Given the description of an element on the screen output the (x, y) to click on. 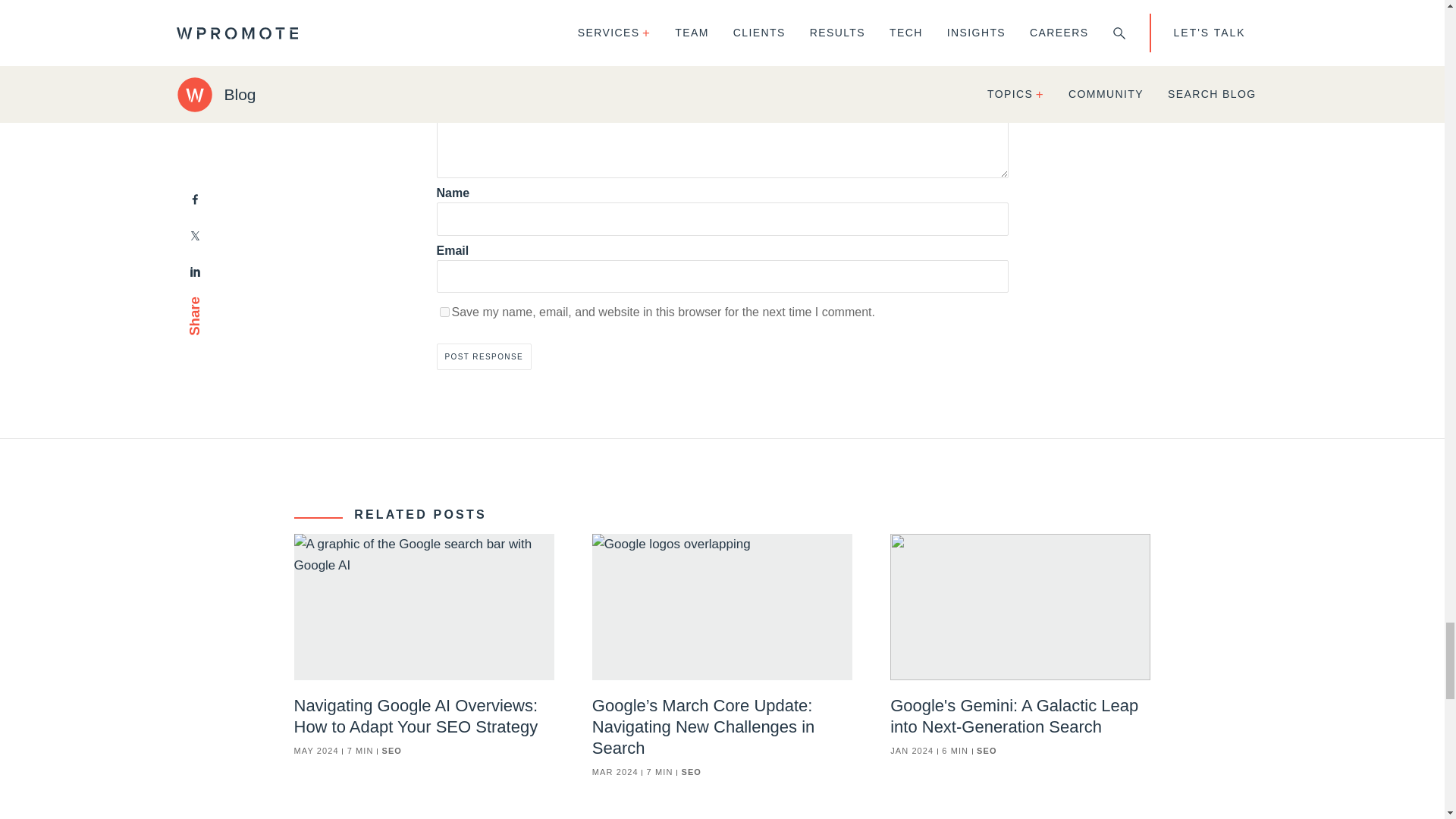
Post Response (484, 356)
yes (444, 311)
